Given the description of an element on the screen output the (x, y) to click on. 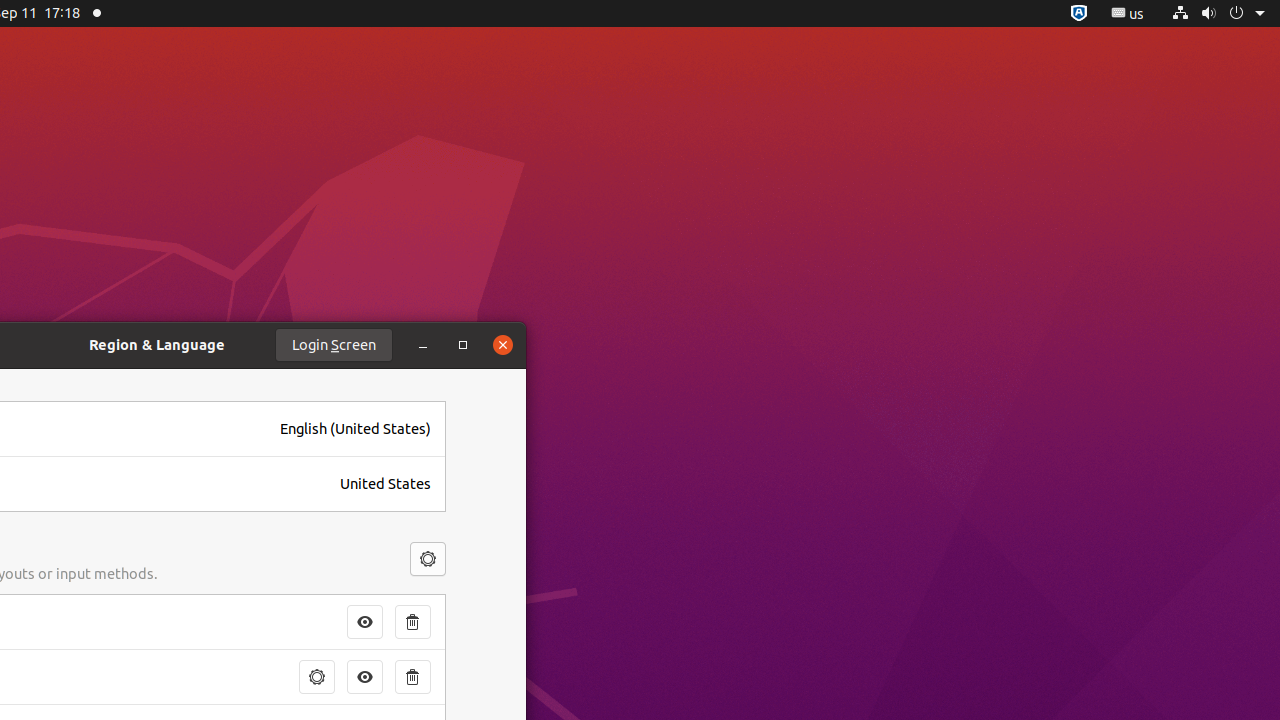
Maximize Element type: push-button (463, 345)
System Element type: menu (1218, 13)
Minimize Element type: push-button (423, 345)
